Given the description of an element on the screen output the (x, y) to click on. 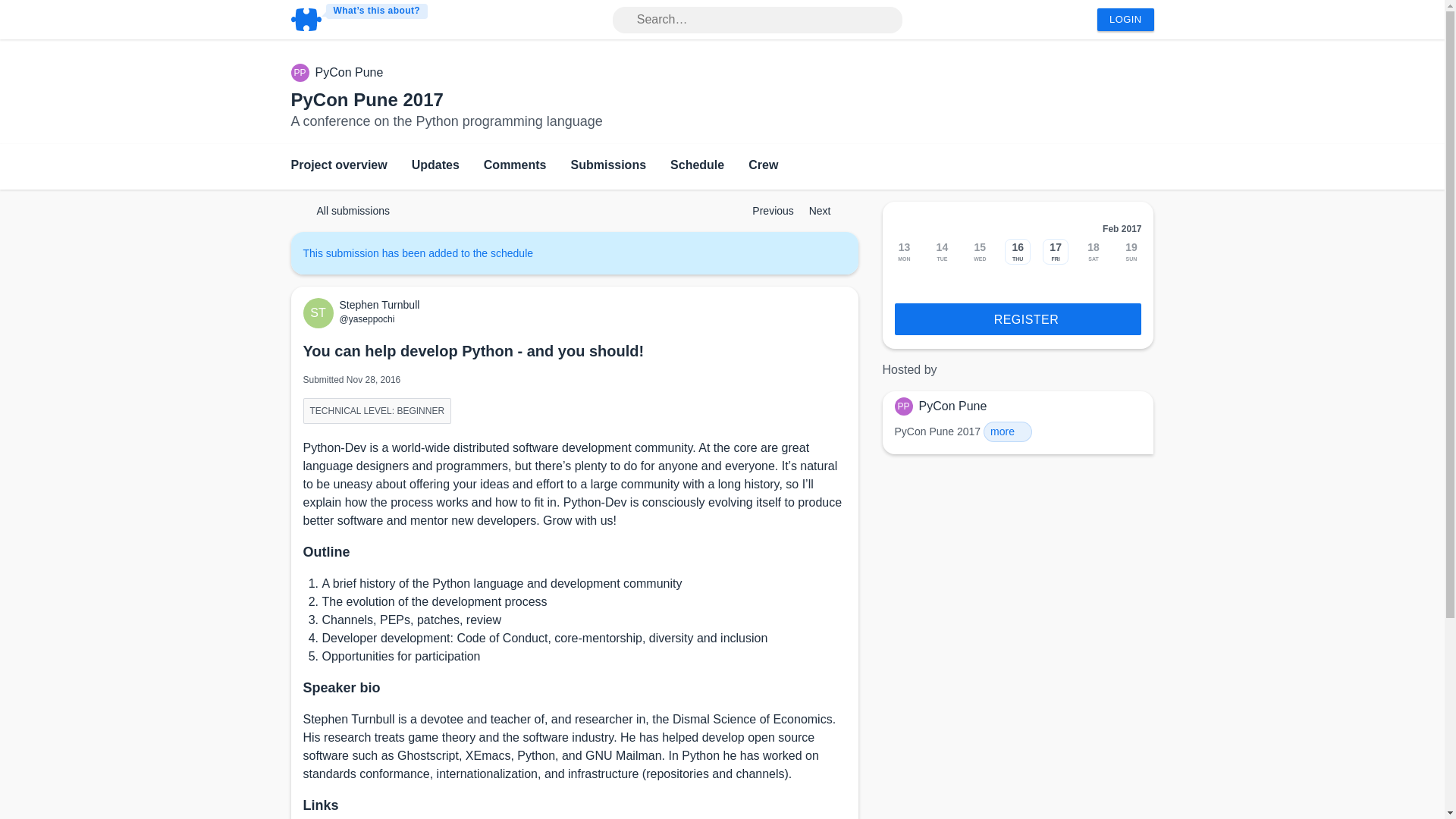
Next (827, 210)
PP (303, 72)
PyCon Pune (349, 72)
Previous (766, 210)
Outline (326, 551)
All submissions (346, 211)
Comments (515, 166)
Project overview (339, 166)
Submissions (608, 166)
Speaker bio (341, 687)
